Given the description of an element on the screen output the (x, y) to click on. 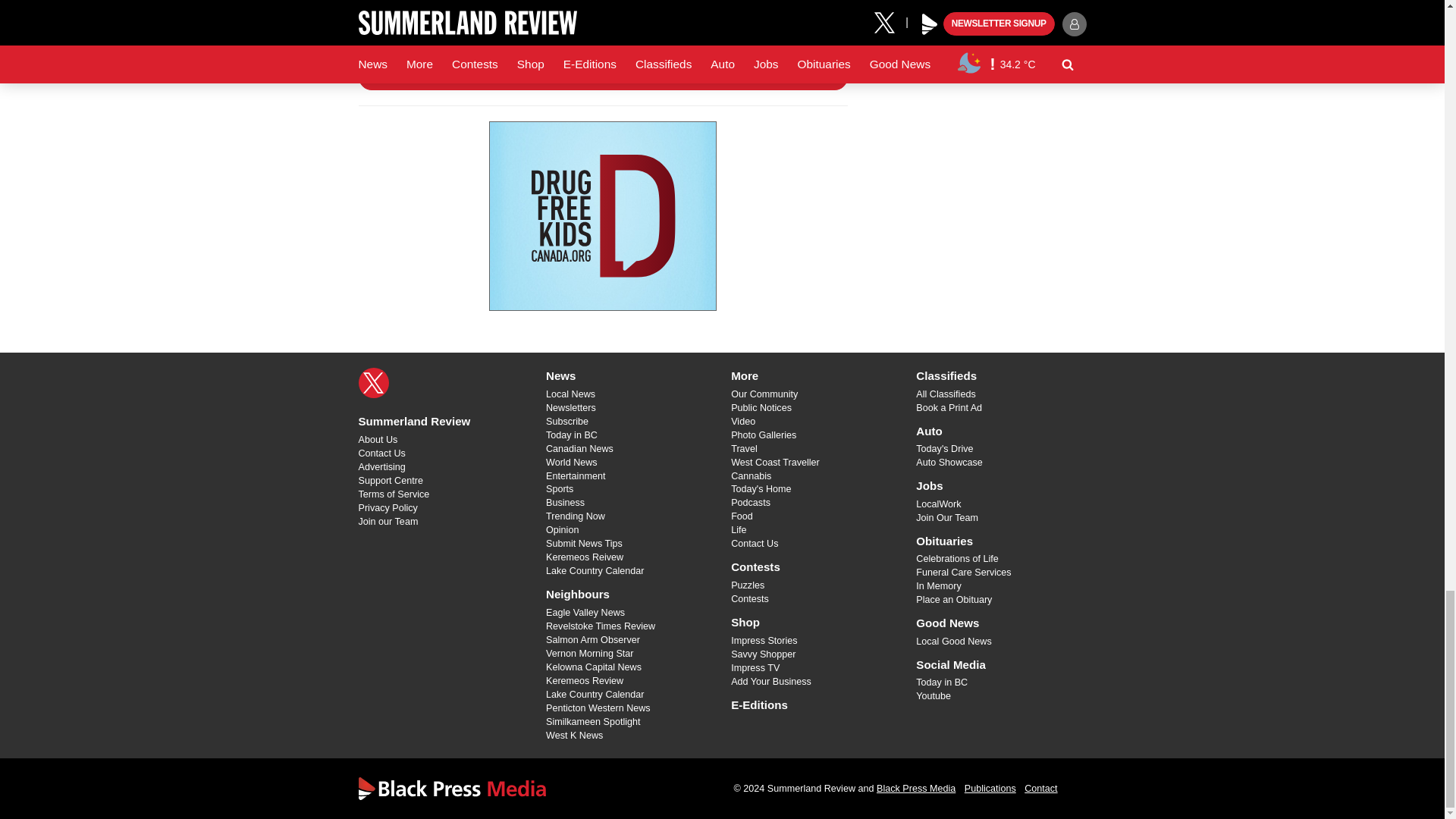
X (373, 382)
3rd party ad content (602, 216)
Show Comments (602, 77)
